Given the description of an element on the screen output the (x, y) to click on. 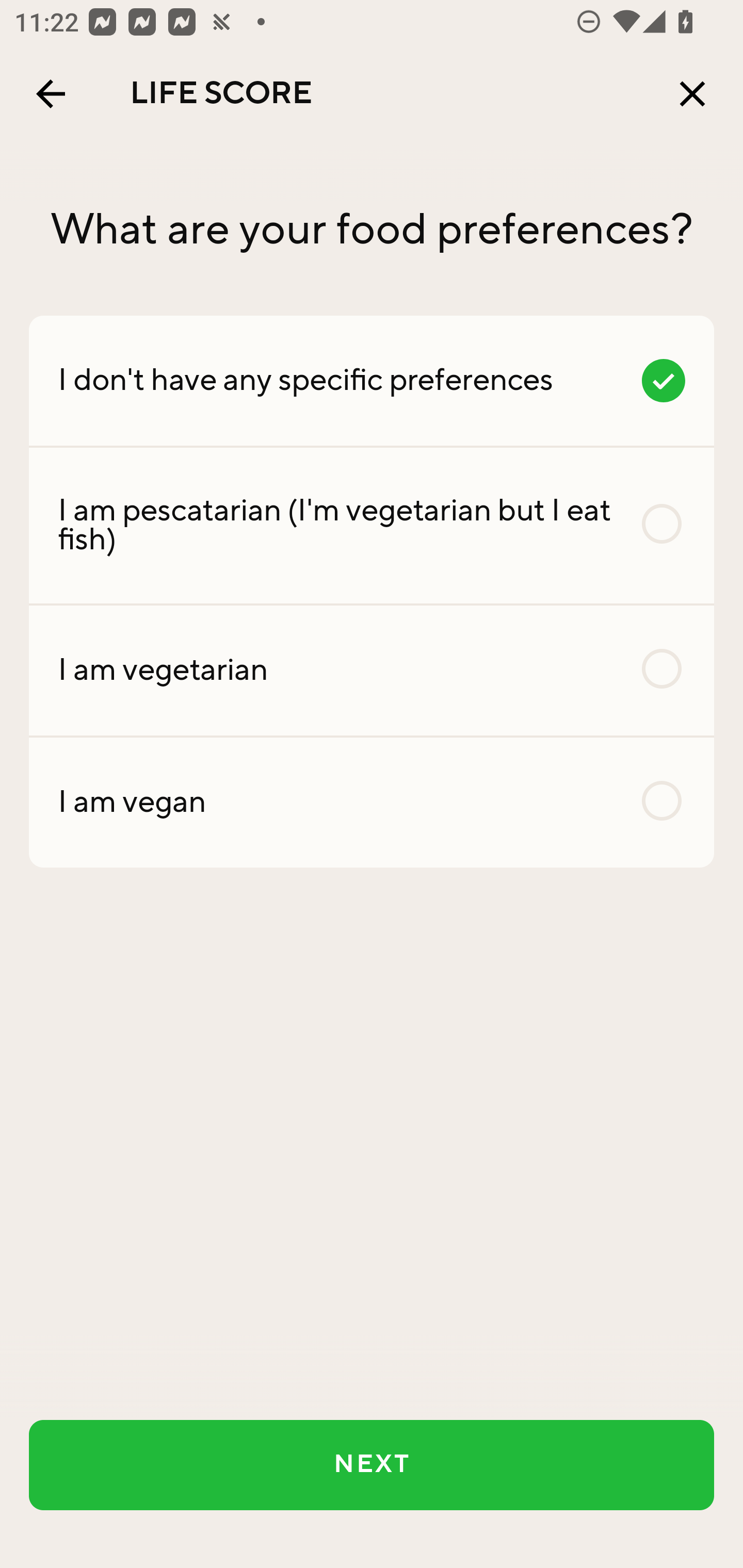
I don't have any specific preferences (371, 380)
I am pescatarian (I'm vegetarian but I eat fish) (371, 525)
I am vegetarian (371, 670)
I am vegan (371, 801)
NEXT (371, 1464)
